Given the description of an element on the screen output the (x, y) to click on. 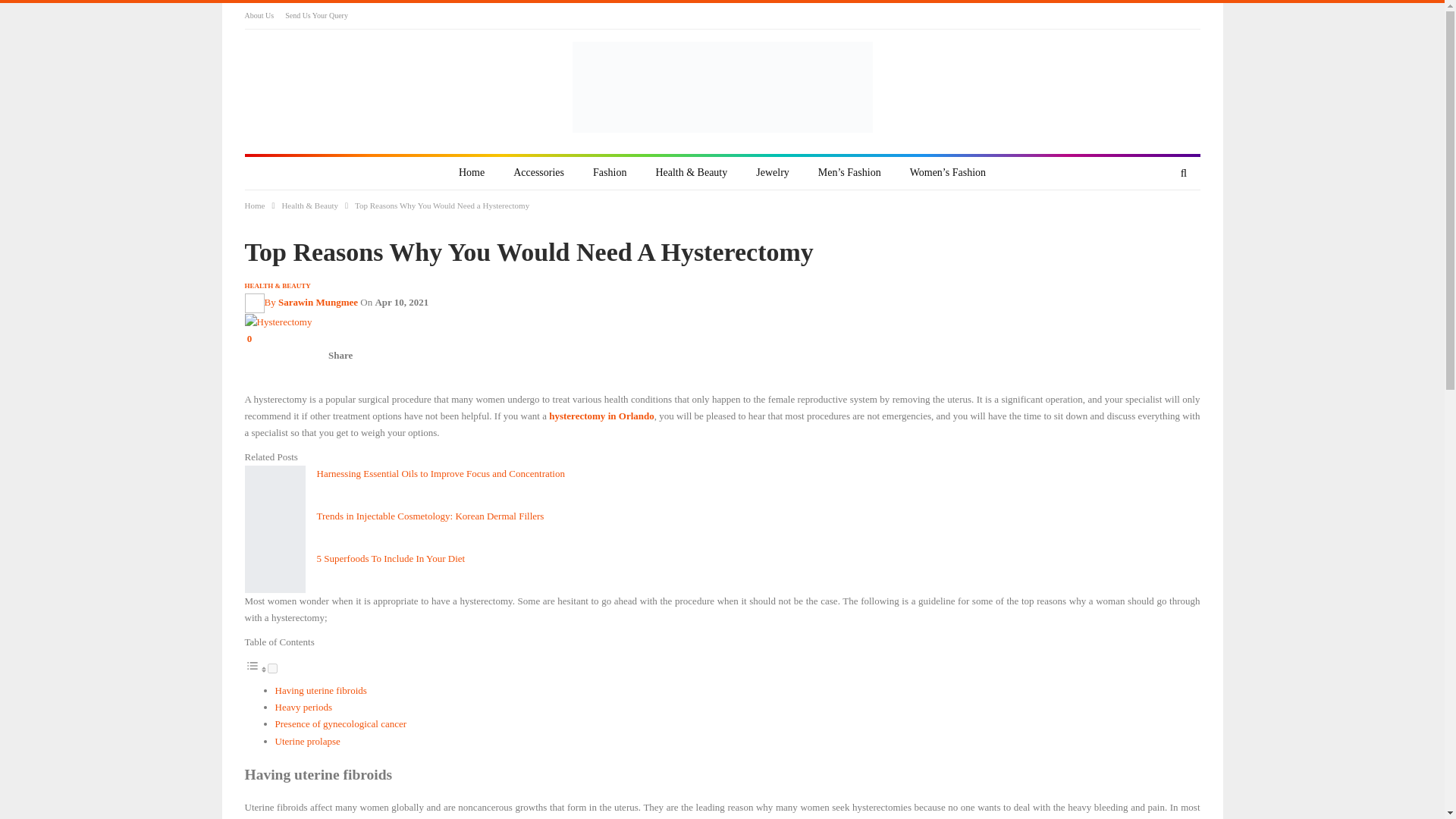
Home (471, 172)
Having uterine fibroids (320, 690)
Fashion (608, 172)
5 Superfoods To Include In Your Diet (274, 571)
Having uterine fibroids (320, 690)
Heavy periods (303, 706)
Harnessing Essential Oils to Improve Focus and Concentration (274, 486)
Jewelry (772, 172)
Presence of gynecological cancer (340, 723)
About Us (258, 15)
Accessories (538, 172)
on (271, 668)
5 Superfoods To Include In Your Diet (391, 558)
Presence of gynecological cancer (340, 723)
Send Us Your Query (316, 15)
